Given the description of an element on the screen output the (x, y) to click on. 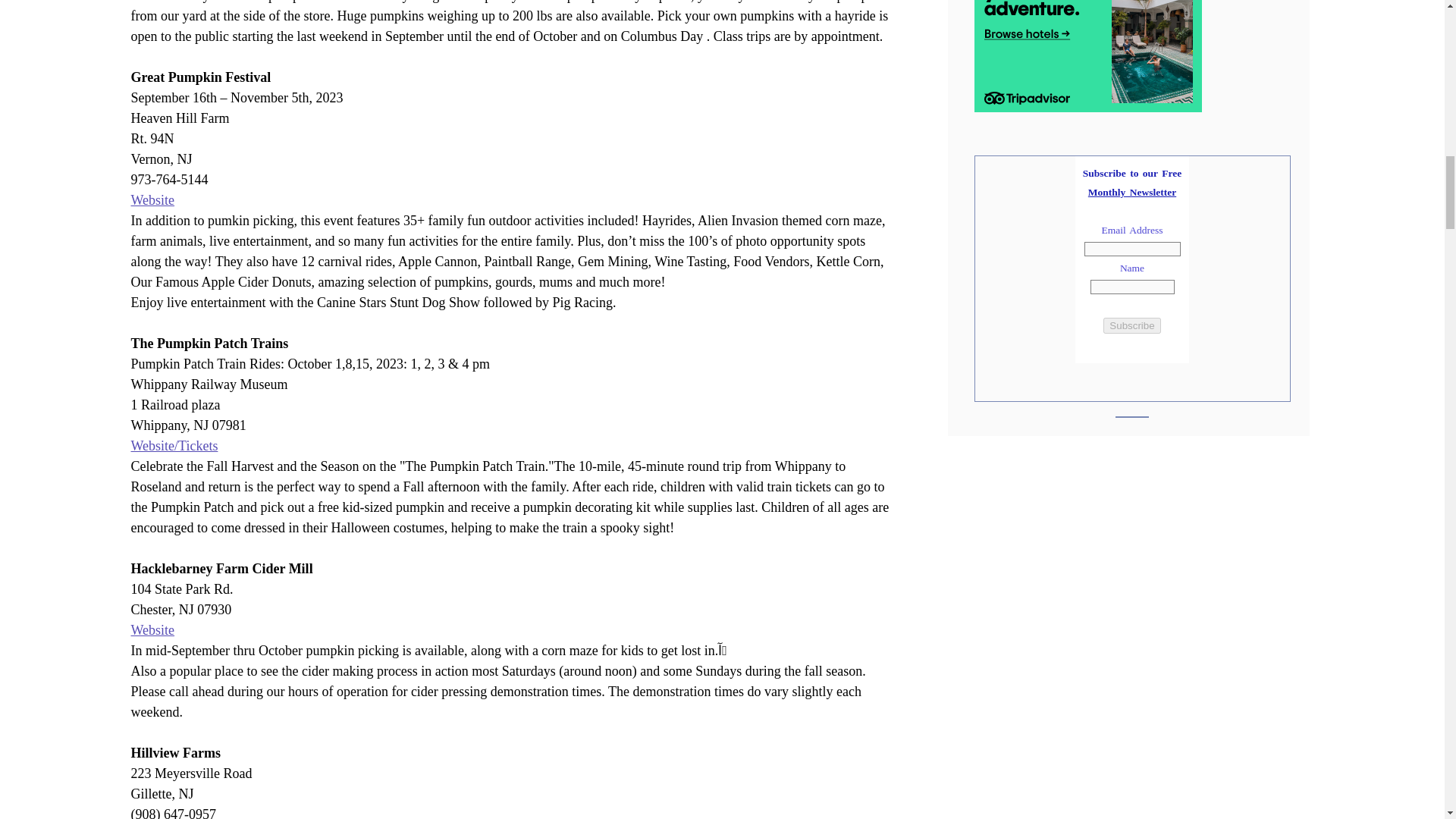
Subscribe (1131, 325)
